Given the description of an element on the screen output the (x, y) to click on. 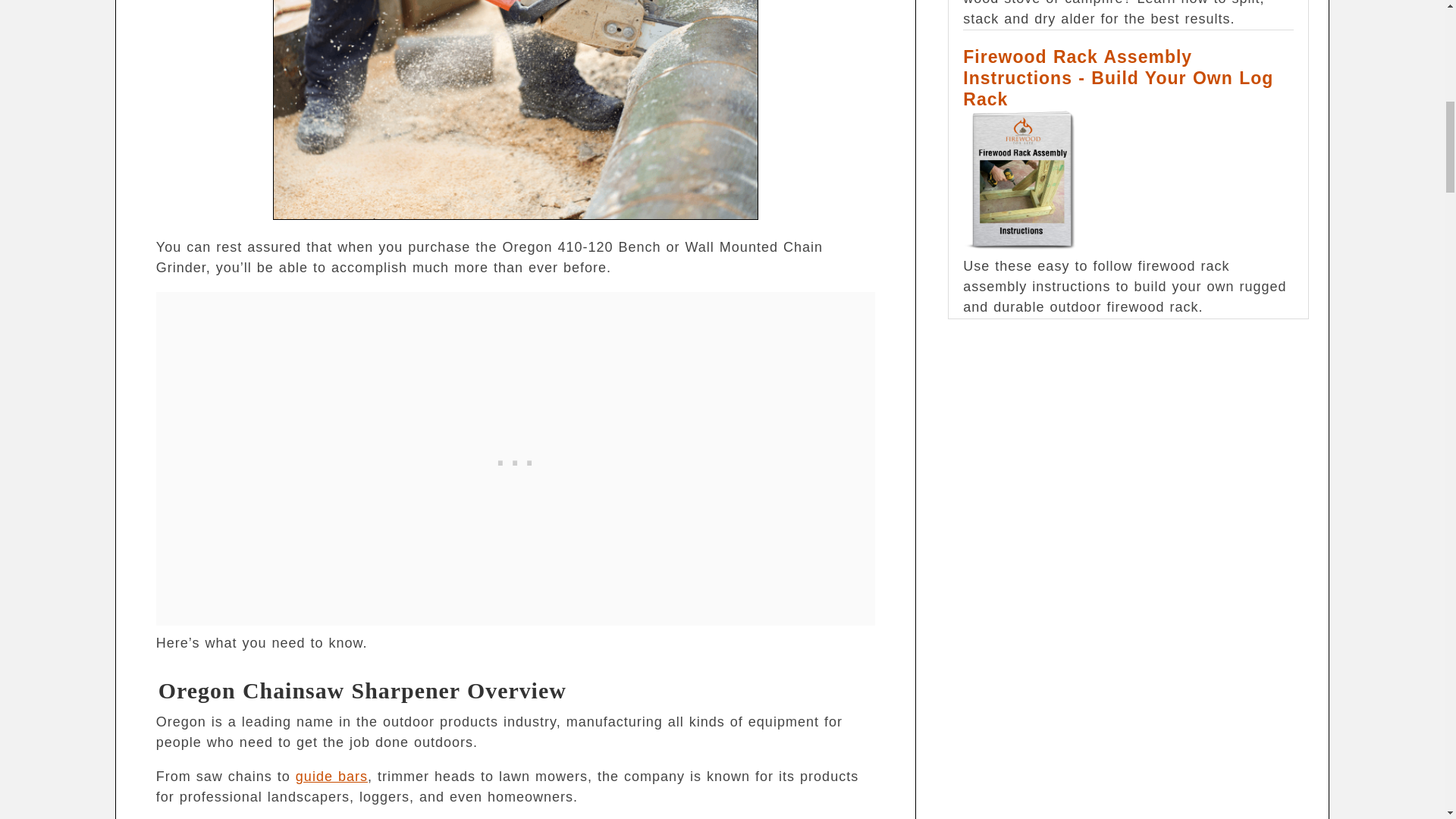
guide bars (331, 776)
